Given the description of an element on the screen output the (x, y) to click on. 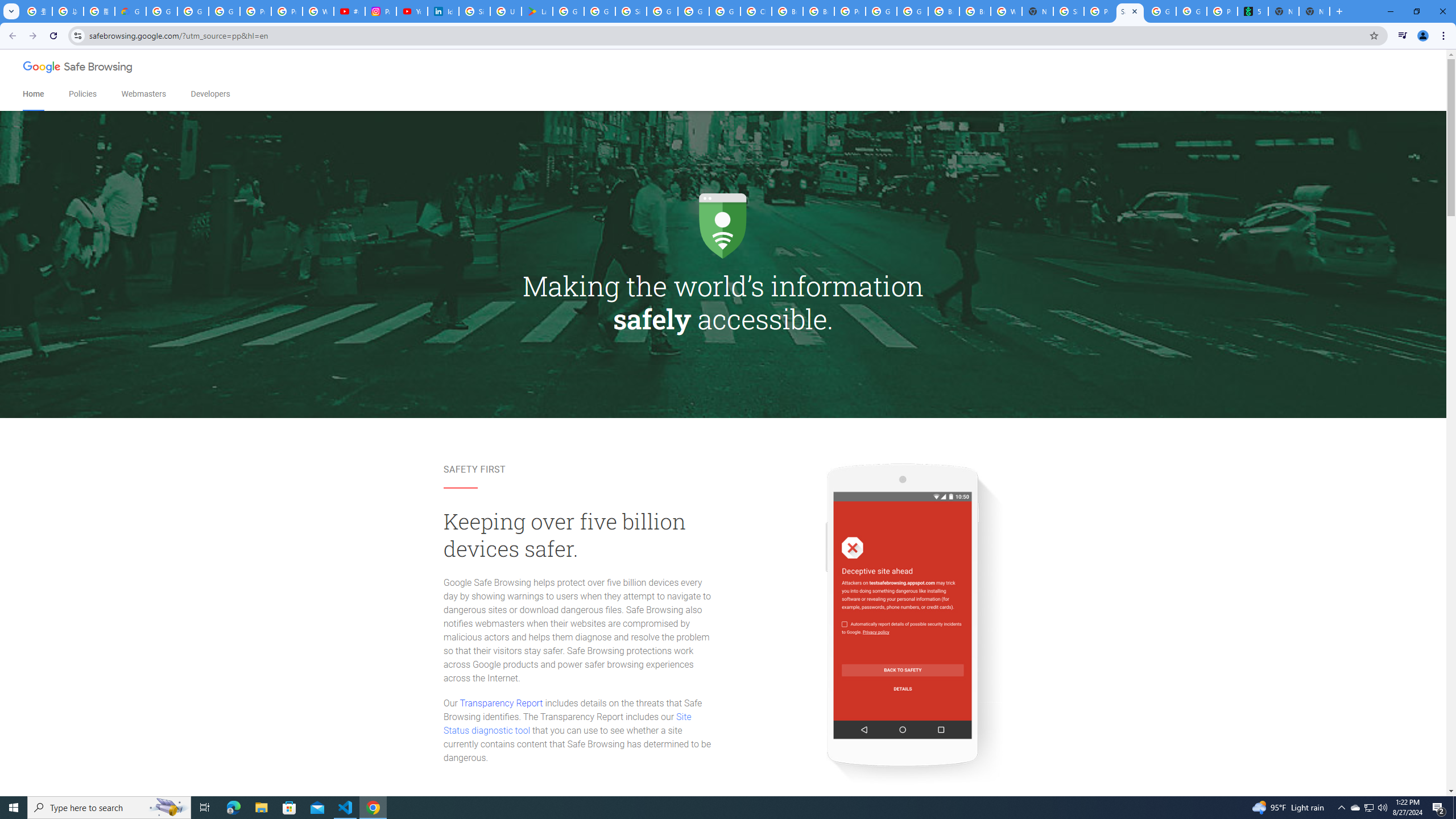
Google Workspace - Specific Terms (599, 11)
#nbabasketballhighlights - YouTube (349, 11)
Google Safe Browsing (78, 68)
Browse Chrome as a guest - Computer - Google Chrome Help (974, 11)
Last Shelter: Survival - Apps on Google Play (536, 11)
